Given the description of an element on the screen output the (x, y) to click on. 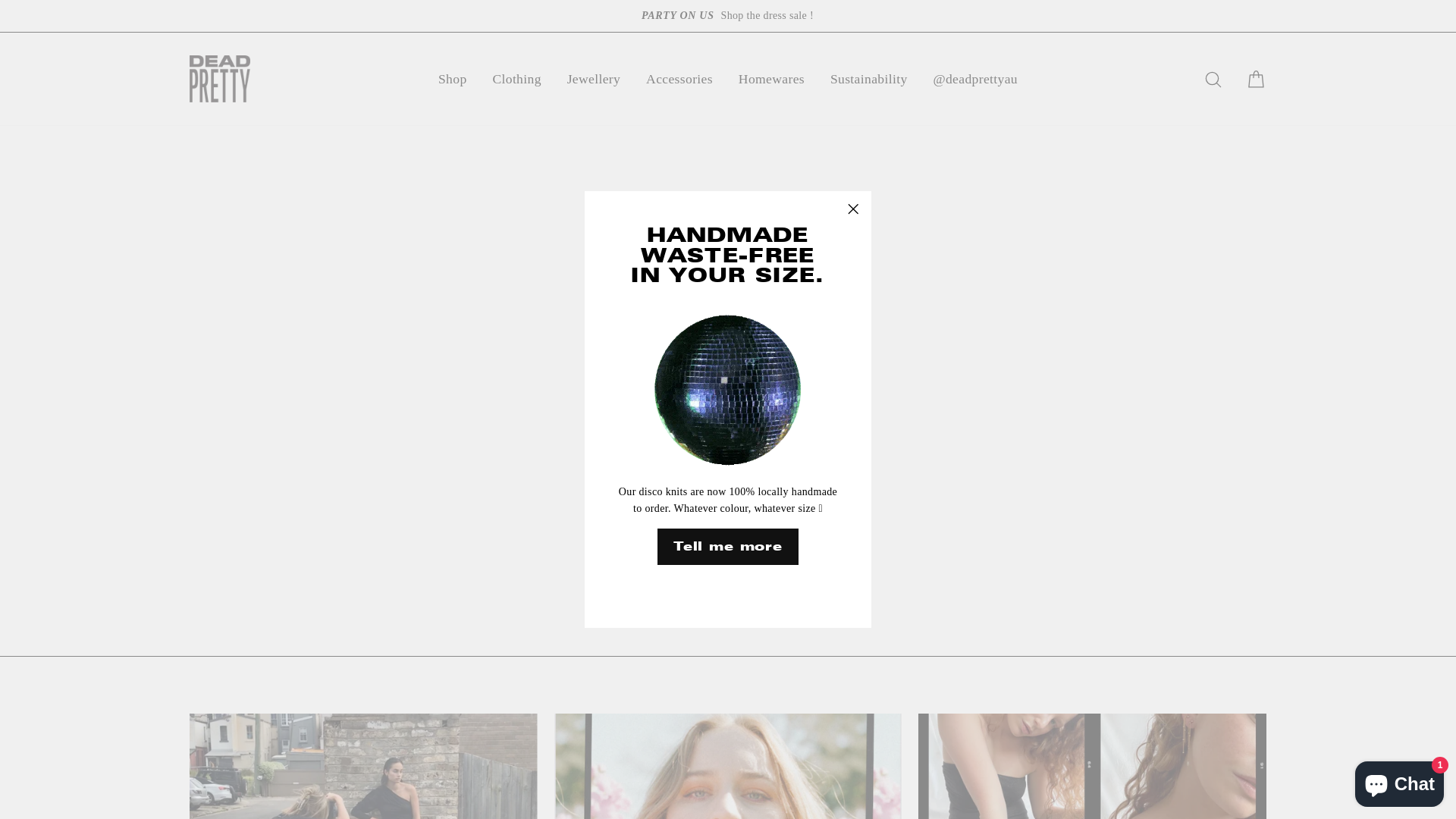
Skip to content Element type: text (0, 0)
Shopify online store chat Element type: hover (1399, 780)
Search Element type: text (1213, 79)
"Close (esc)" Element type: text (852, 209)
Accessories Element type: text (679, 78)
Clothing Element type: text (516, 78)
Sustainability Element type: text (869, 78)
Cart Element type: text (1255, 79)
Tell me more Element type: text (727, 546)
Homewares Element type: text (771, 78)
Jewellery Element type: text (593, 78)
@deadprettyau Element type: text (975, 78)
Shop Element type: text (452, 78)
